Given the description of an element on the screen output the (x, y) to click on. 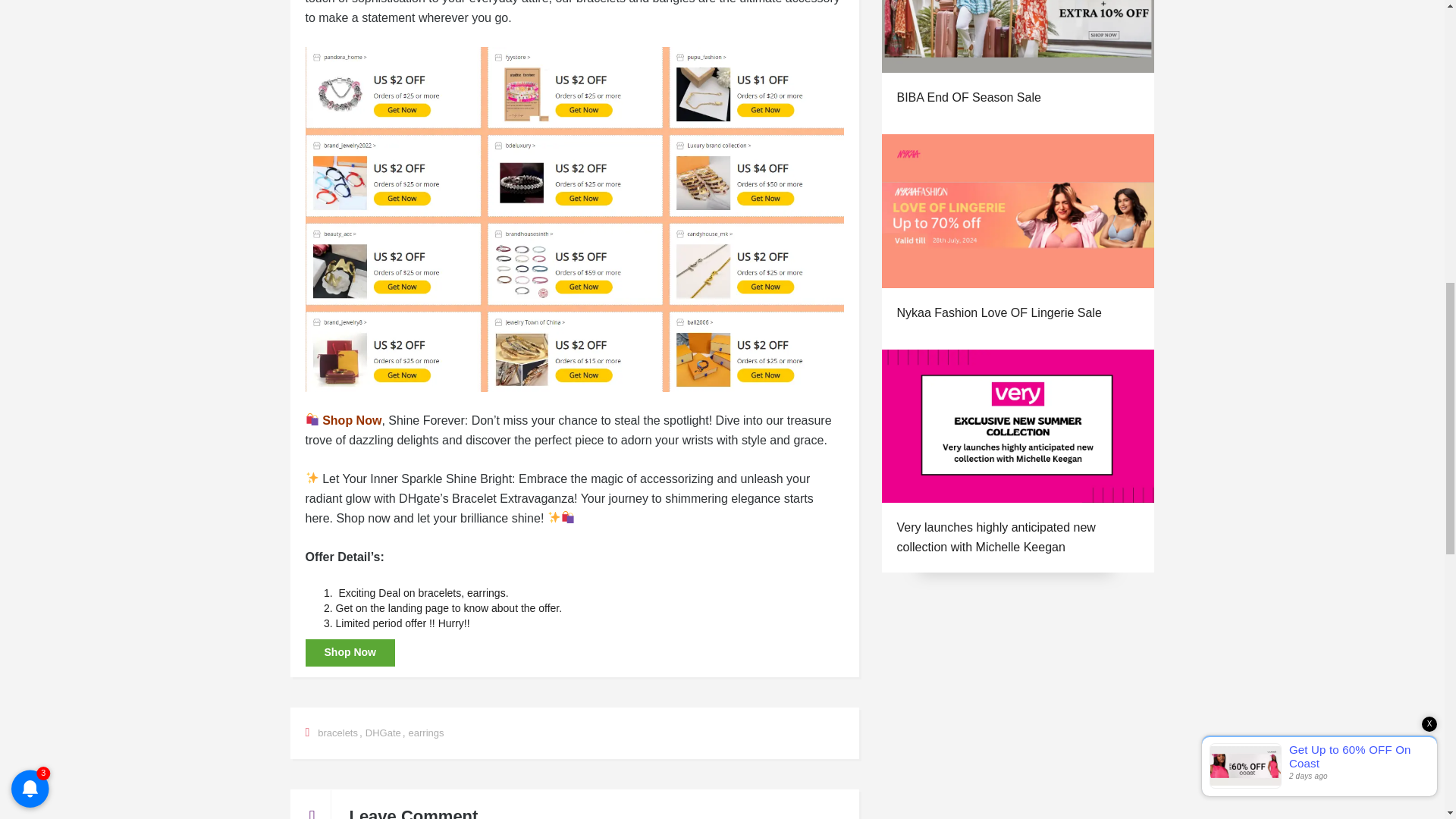
bracelets (337, 732)
Shop Now (349, 652)
earrings (426, 732)
BIBA End OF Season Sale (968, 97)
Shop Now (351, 420)
DHGate (383, 732)
Nykaa Fashion Love OF Lingerie Sale (998, 312)
